Given the description of an element on the screen output the (x, y) to click on. 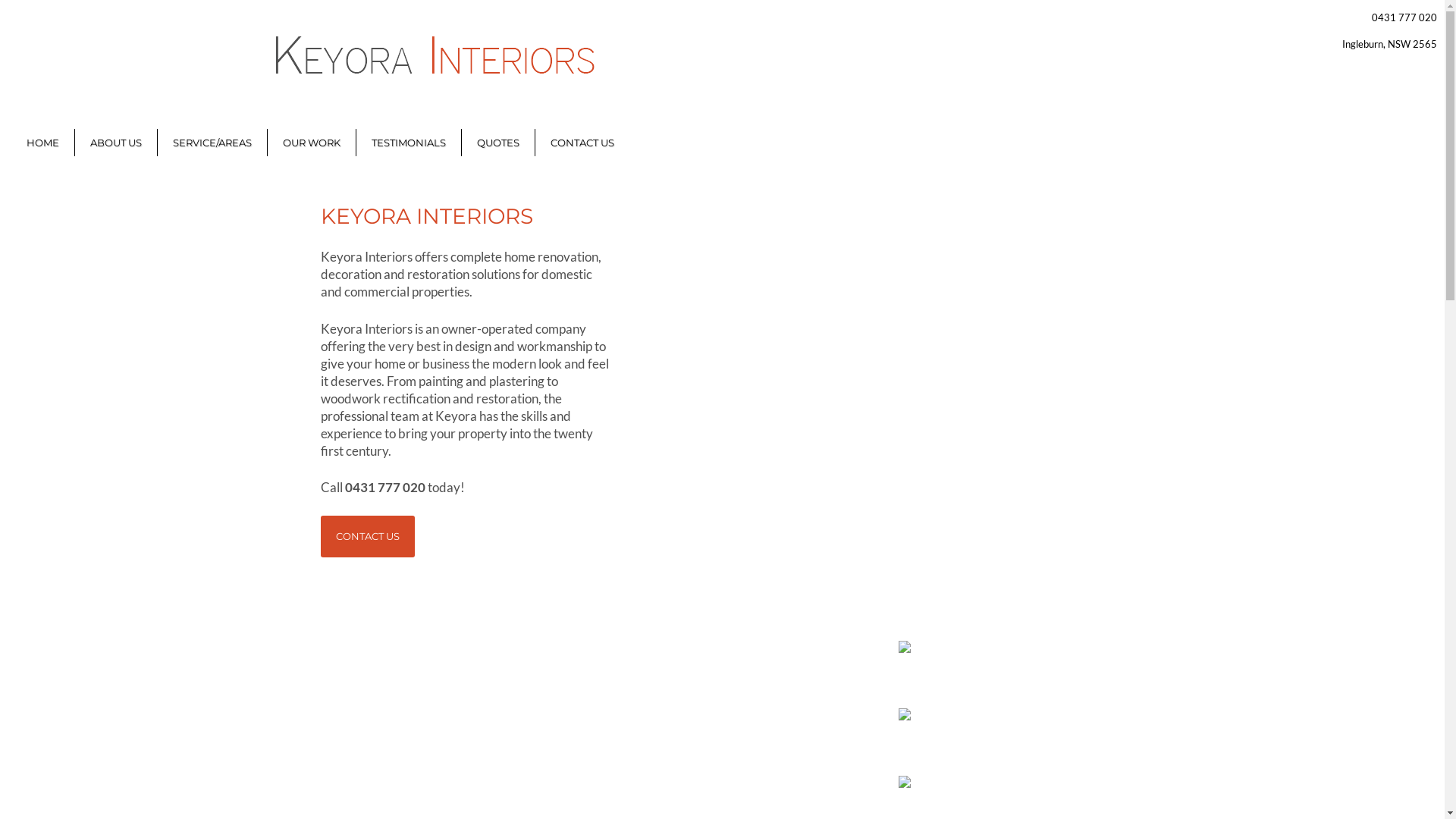
CONTACT US Element type: text (367, 536)
CONTACT US Element type: text (582, 142)
OUR WORK Element type: text (311, 142)
QUOTES Element type: text (497, 142)
ABOUT US Element type: text (115, 142)
0431 777 020 Element type: text (1404, 17)
Plasterer Coomera Element type: hover (1029, 738)
House Painting & Decorating Brisbane Element type: hover (1029, 670)
TESTIMONIALS Element type: text (408, 142)
SERVICE/AREAS Element type: text (211, 142)
HOME Element type: text (42, 142)
